Given the description of an element on the screen output the (x, y) to click on. 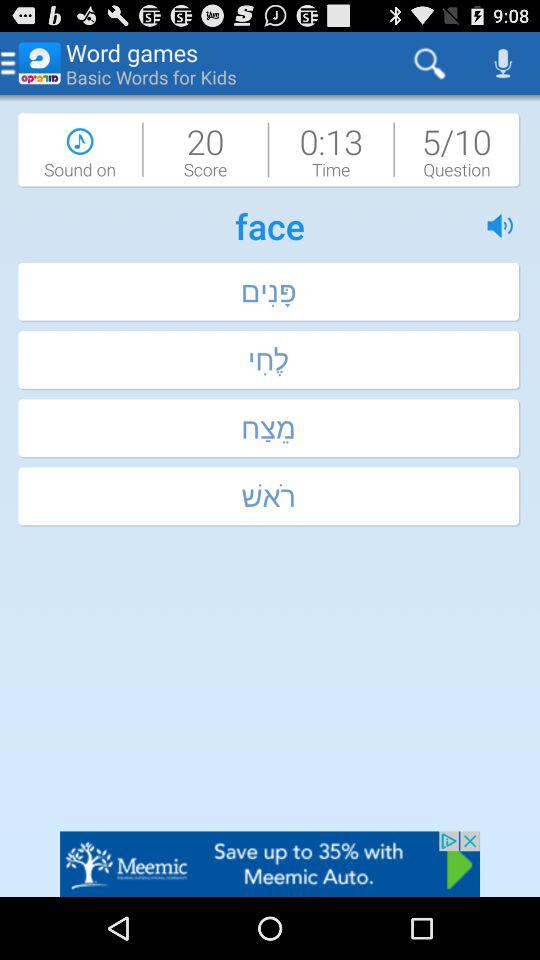
open advertisement (270, 864)
